Given the description of an element on the screen output the (x, y) to click on. 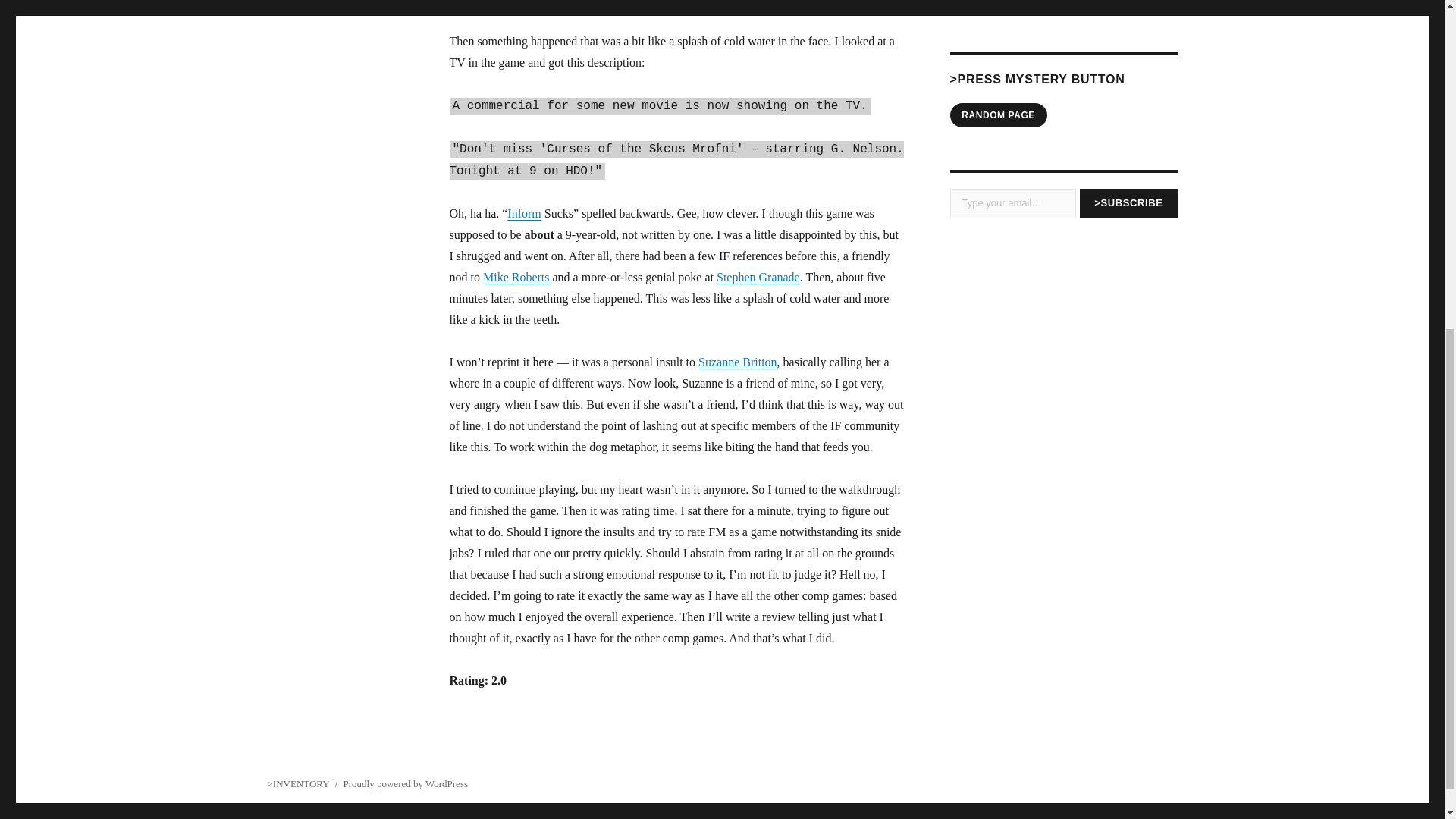
Mike Roberts (516, 277)
THE IF COMPETITION (1012, 5)
Stephen Granade (757, 277)
Please fill in this field. (1012, 203)
Suzanne Britton (737, 361)
Inform (523, 213)
